Given the description of an element on the screen output the (x, y) to click on. 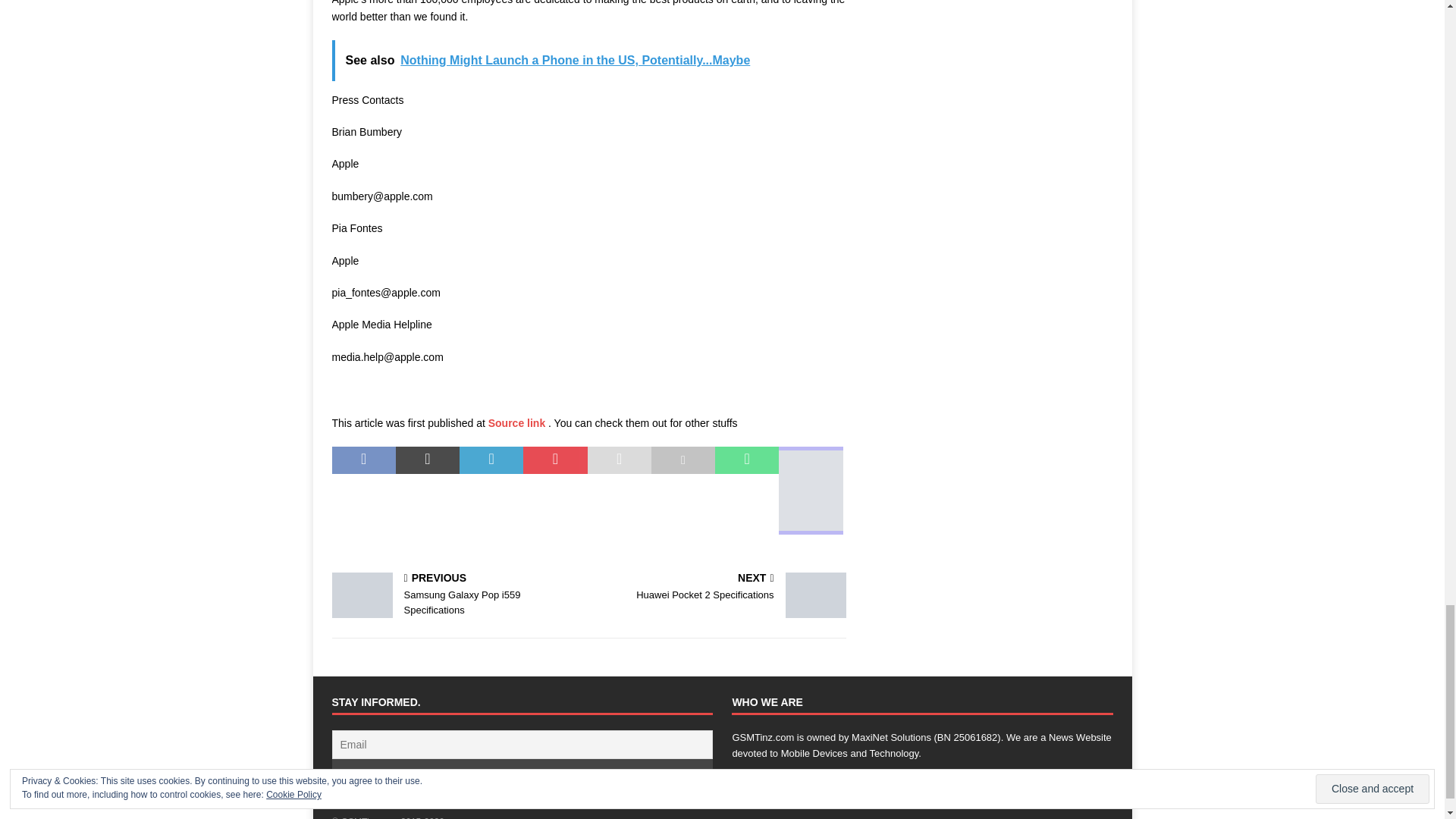
Join our friends (522, 772)
Source link (517, 422)
